Given the description of an element on the screen output the (x, y) to click on. 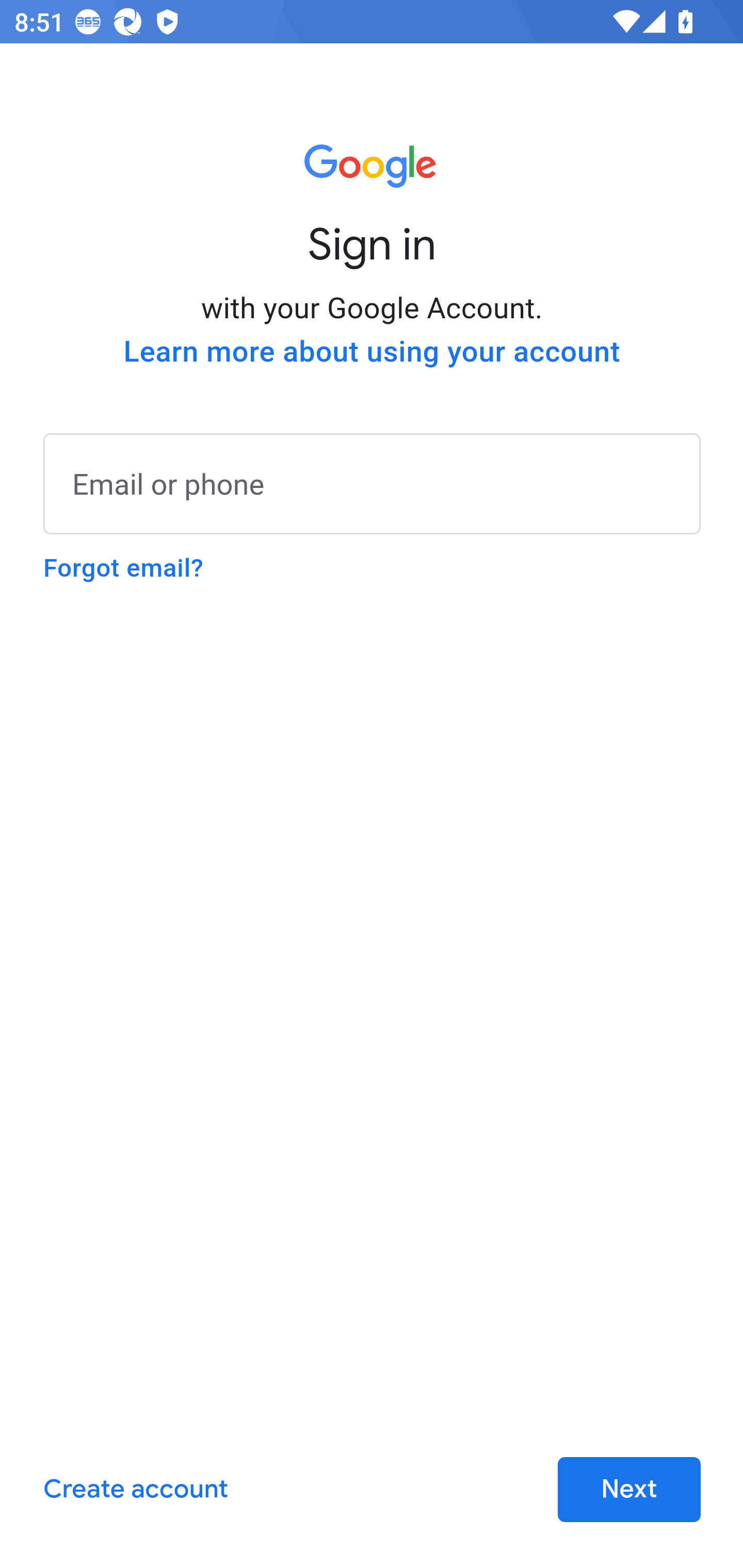
Learn more about using your account (371, 351)
Forgot email? (123, 568)
Create account (134, 1490)
Next (629, 1490)
